Given the description of an element on the screen output the (x, y) to click on. 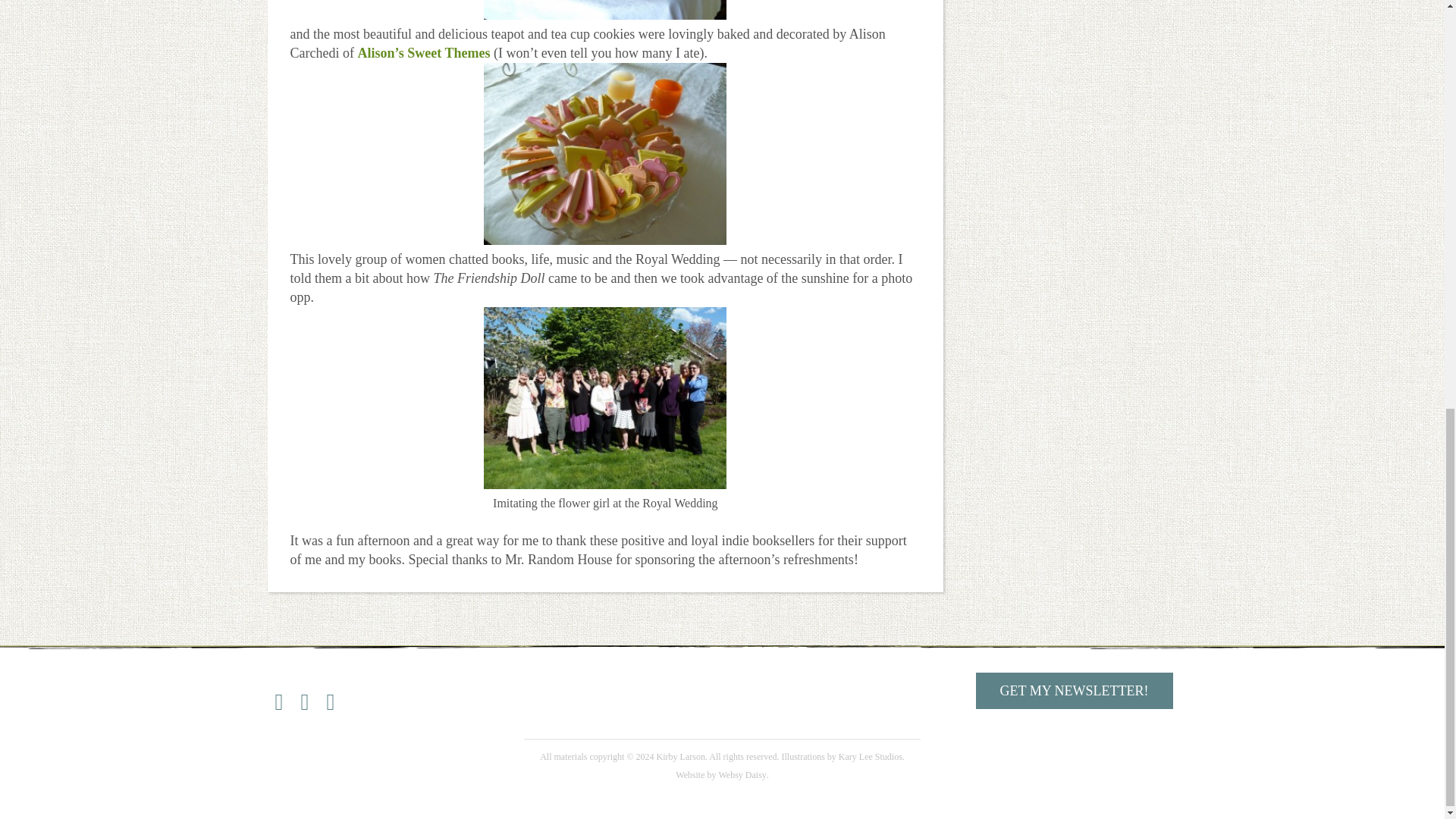
GET MY NEWSLETTER! (1073, 690)
Websy Daisy (743, 774)
Kary Lee Studios (870, 756)
